Given the description of an element on the screen output the (x, y) to click on. 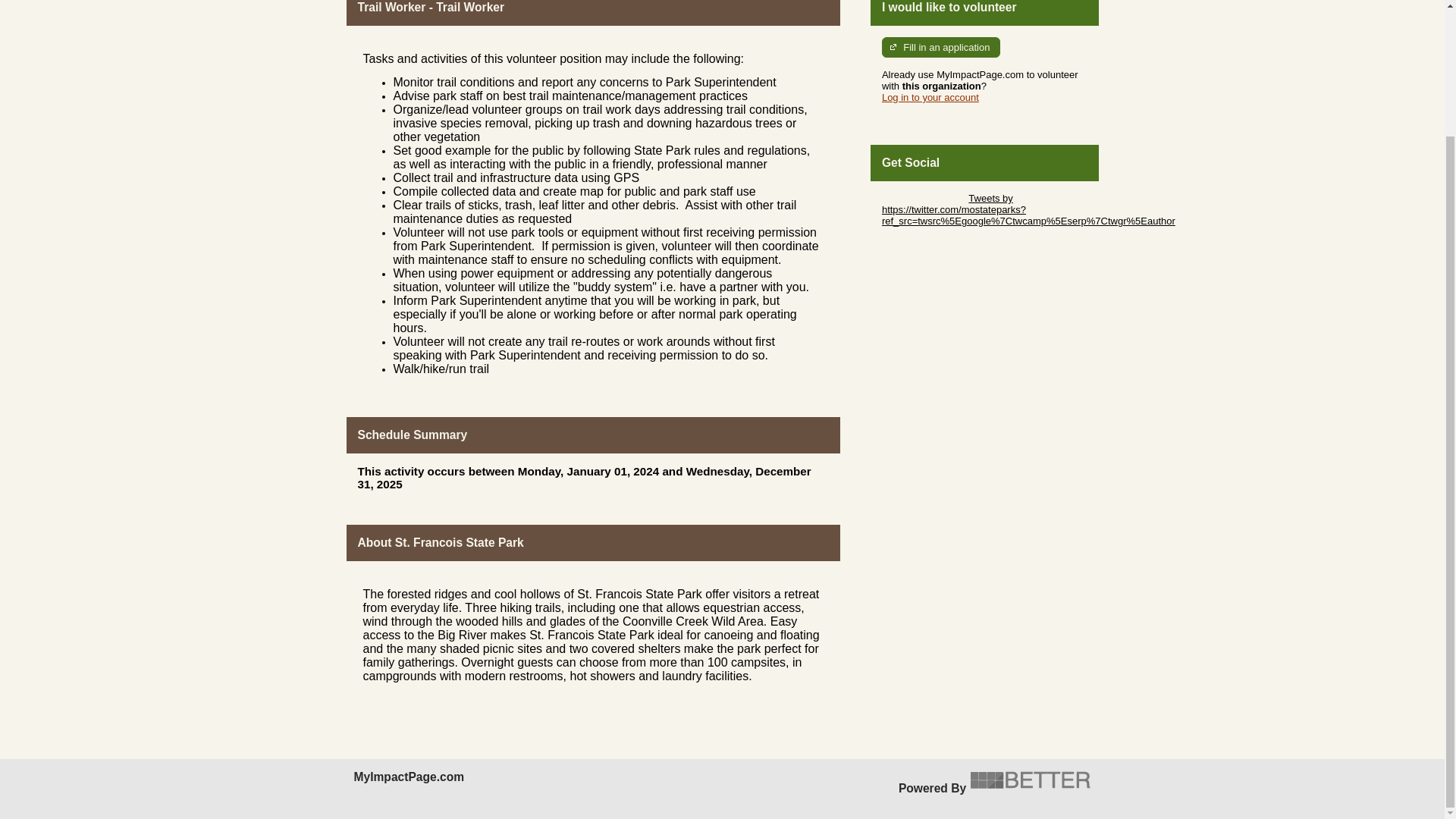
Skip Twitter Widget (924, 197)
Fill in an application (941, 46)
Log in to your account (930, 97)
